Given the description of an element on the screen output the (x, y) to click on. 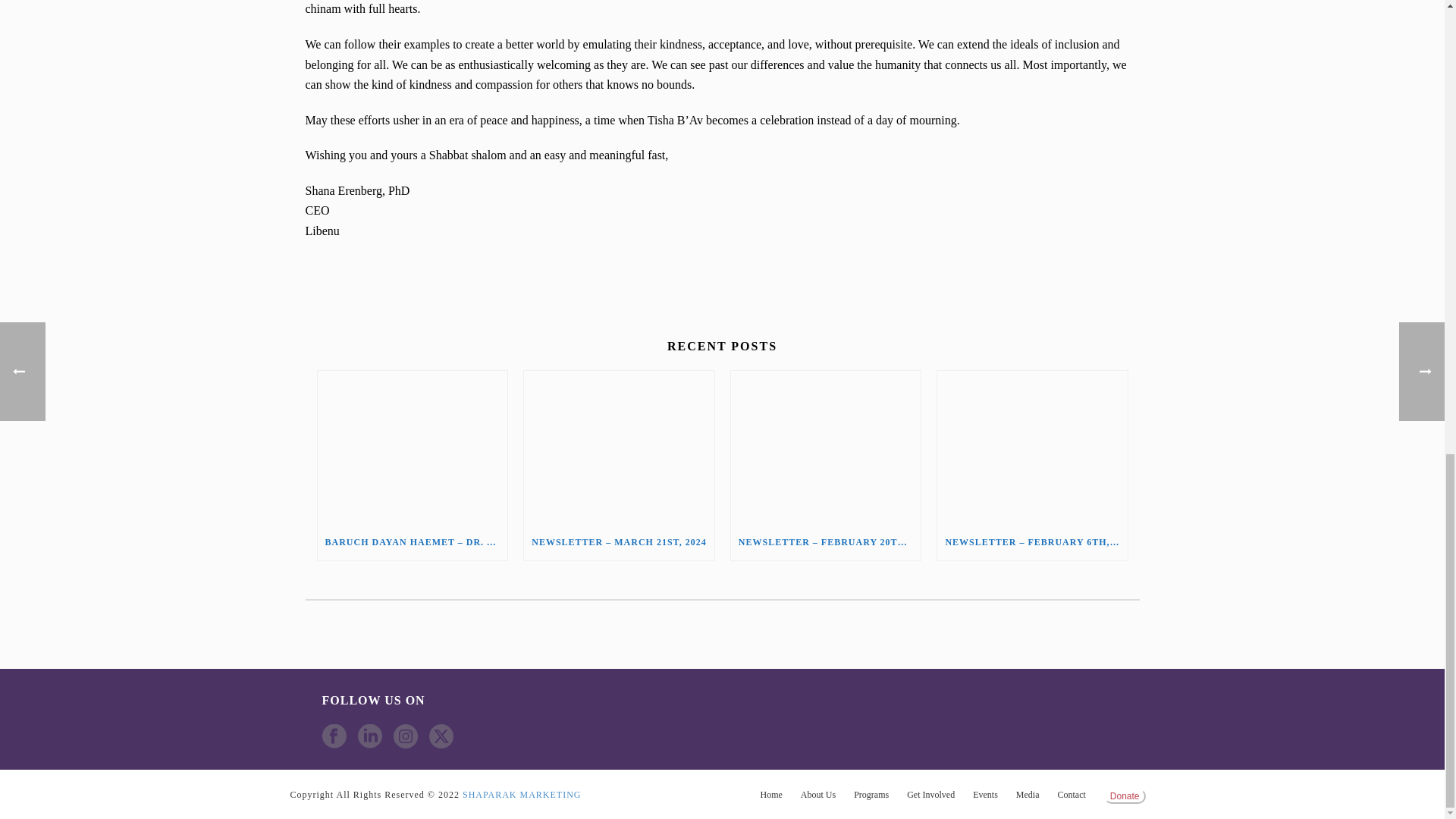
Follow Us on facebook (333, 737)
Follow Us on twitter (440, 737)
Follow Us on linkedin (369, 737)
Follow Us on instagram (404, 737)
